Given the description of an element on the screen output the (x, y) to click on. 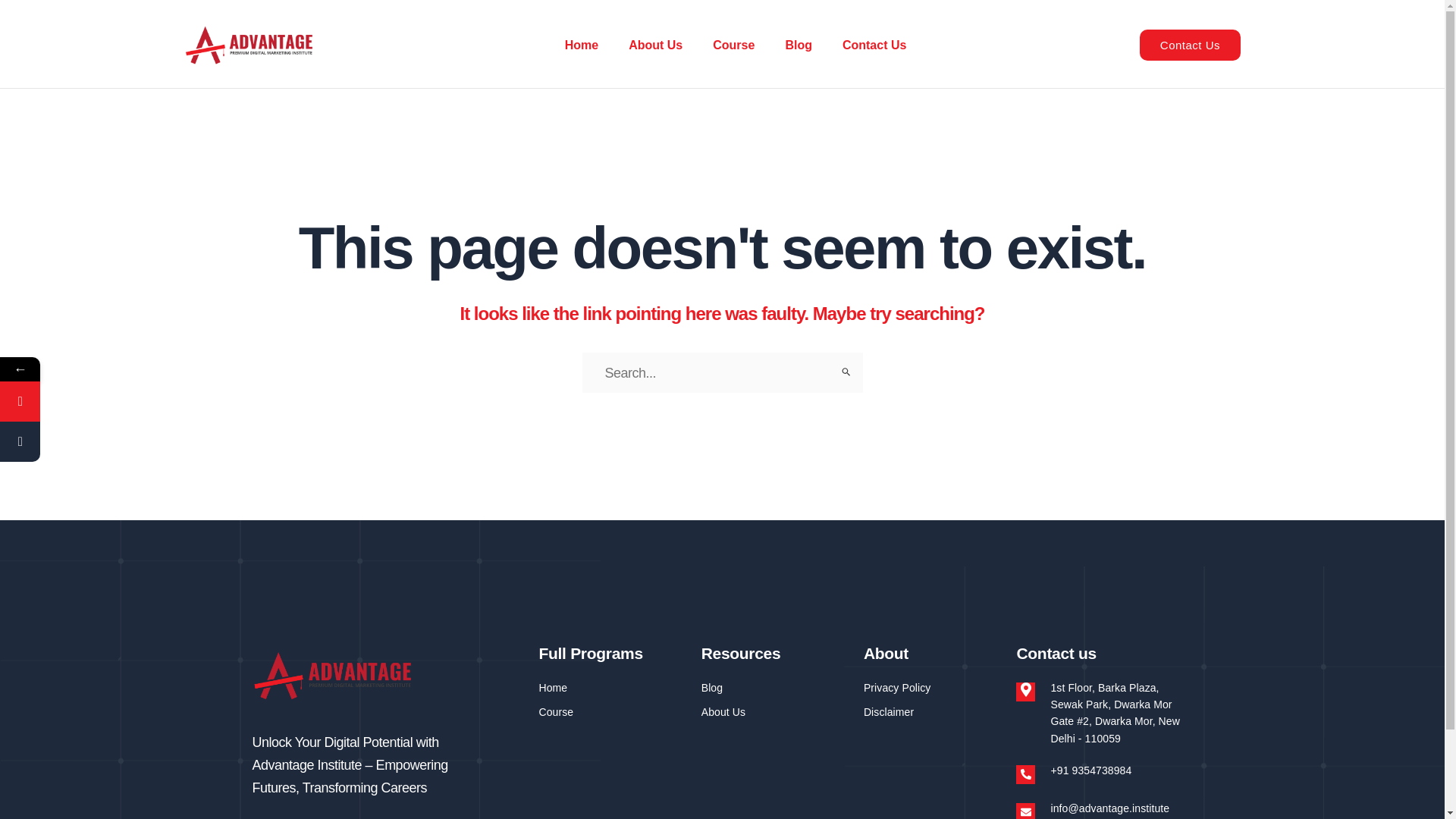
About Us (654, 45)
Disclaimer (932, 711)
Blog (798, 45)
WhatsApp (92, 401)
Course (611, 711)
Contact Us (1190, 44)
About Us (774, 711)
Search (844, 370)
Course (733, 45)
WhatsApp (92, 401)
Contact Us (874, 45)
Privacy Policy (932, 687)
WhatsApp (20, 401)
Phone (92, 441)
Home (581, 45)
